Given the description of an element on the screen output the (x, y) to click on. 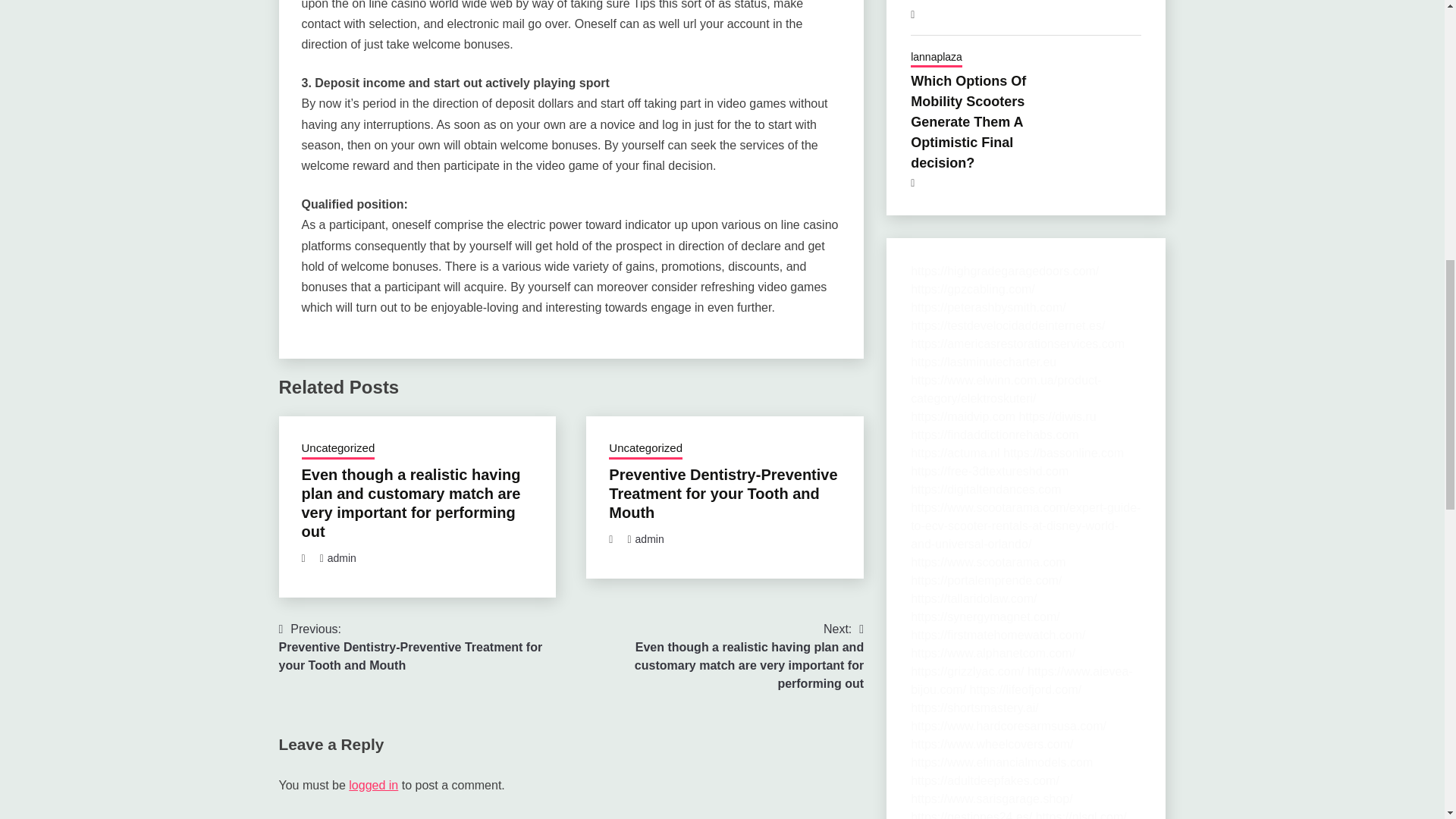
Uncategorized (645, 449)
Uncategorized (338, 449)
logged in (373, 784)
admin (341, 558)
admin (648, 539)
